Given the description of an element on the screen output the (x, y) to click on. 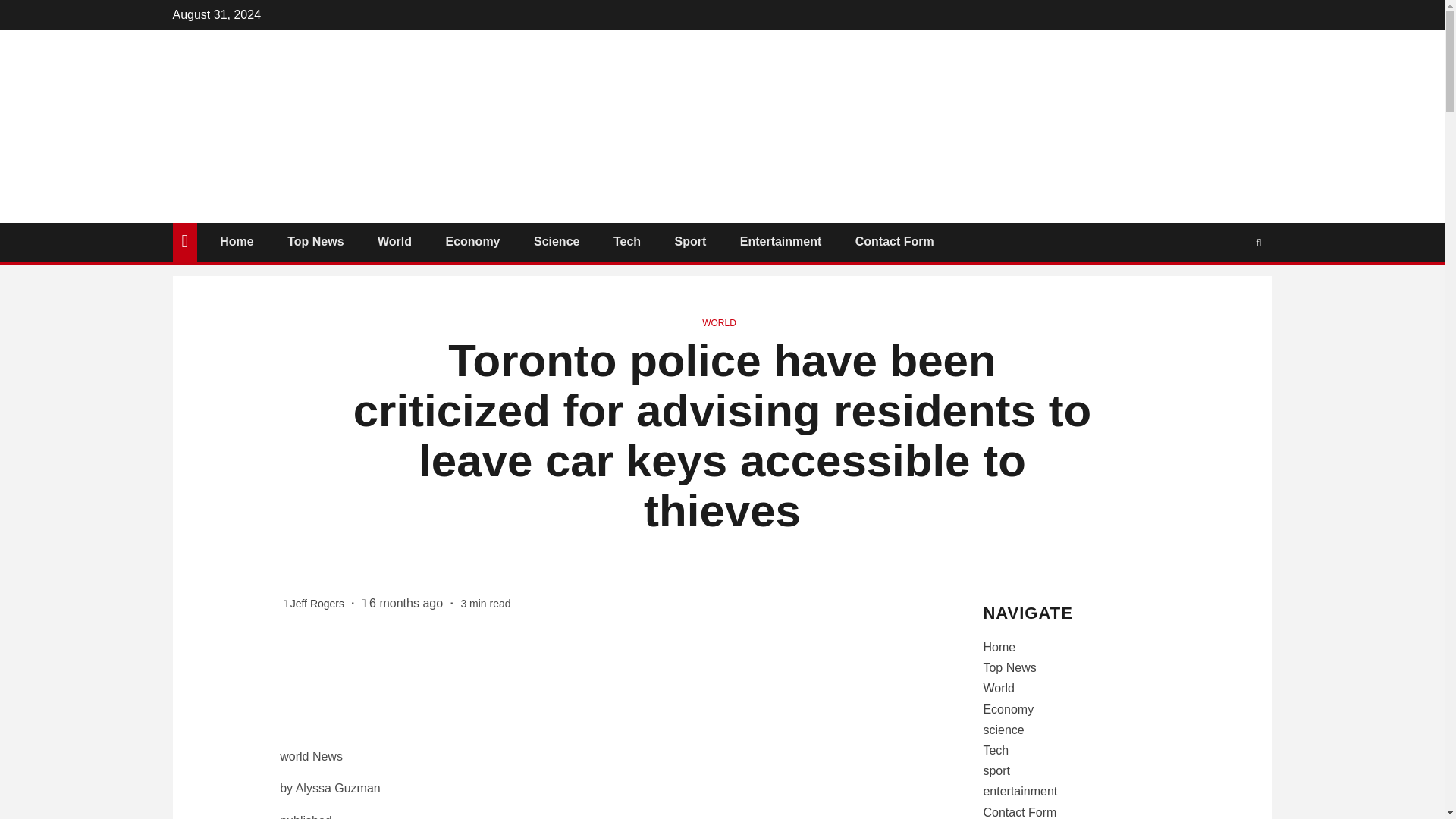
Top News (314, 241)
Economy (472, 241)
Jeff Rogers (318, 603)
WORLD (718, 322)
World (394, 241)
Entertainment (780, 241)
Science (556, 241)
Tech (626, 241)
Sport (690, 241)
